Given the description of an element on the screen output the (x, y) to click on. 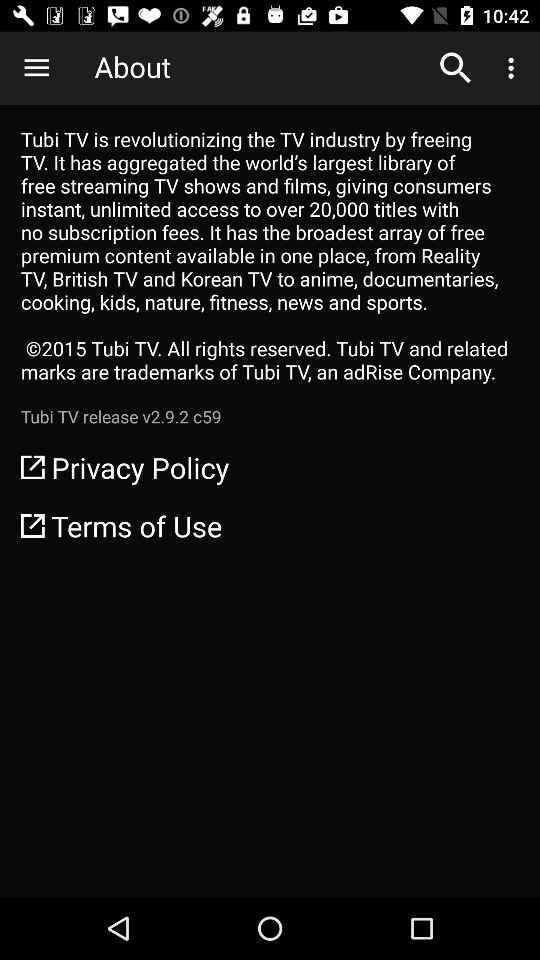
launch icon above tubi tv is icon (513, 67)
